Given the description of an element on the screen output the (x, y) to click on. 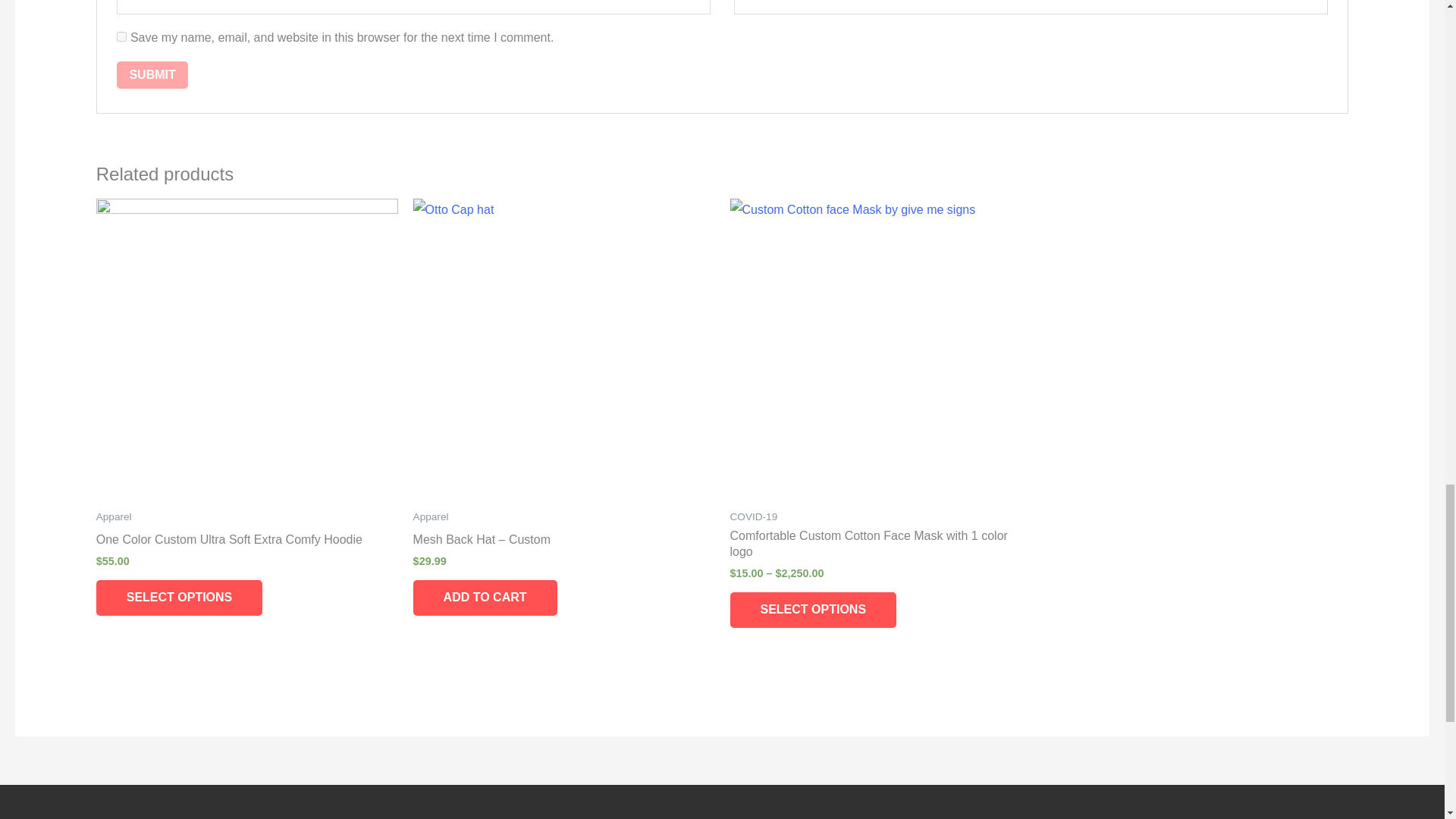
yes (121, 36)
Submit (151, 74)
